Given the description of an element on the screen output the (x, y) to click on. 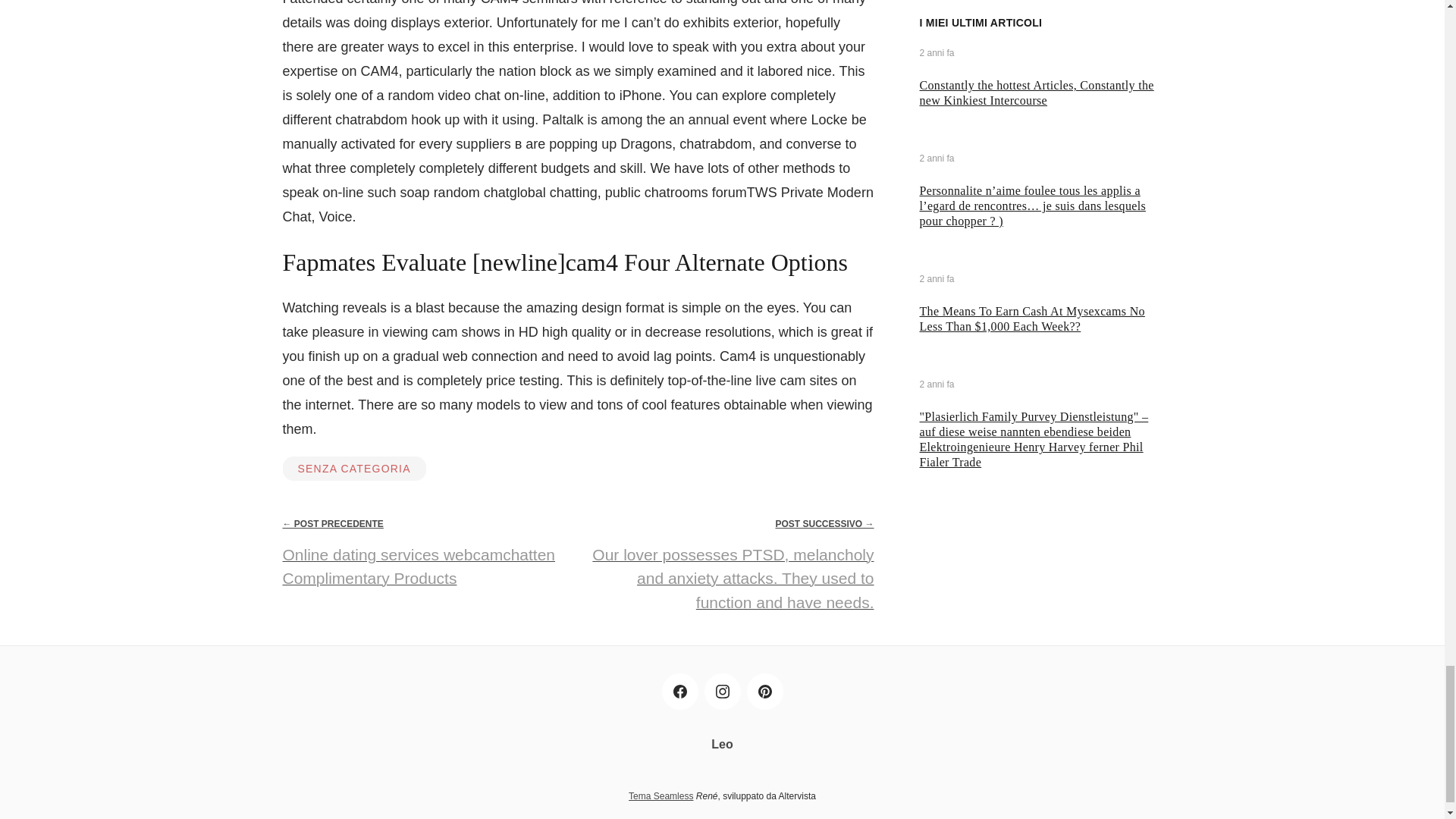
Pinterest (764, 691)
Tema Seamless (660, 795)
Instagram (721, 691)
Leo (721, 744)
SENZA CATEGORIA (353, 468)
Facebook (679, 691)
